Given the description of an element on the screen output the (x, y) to click on. 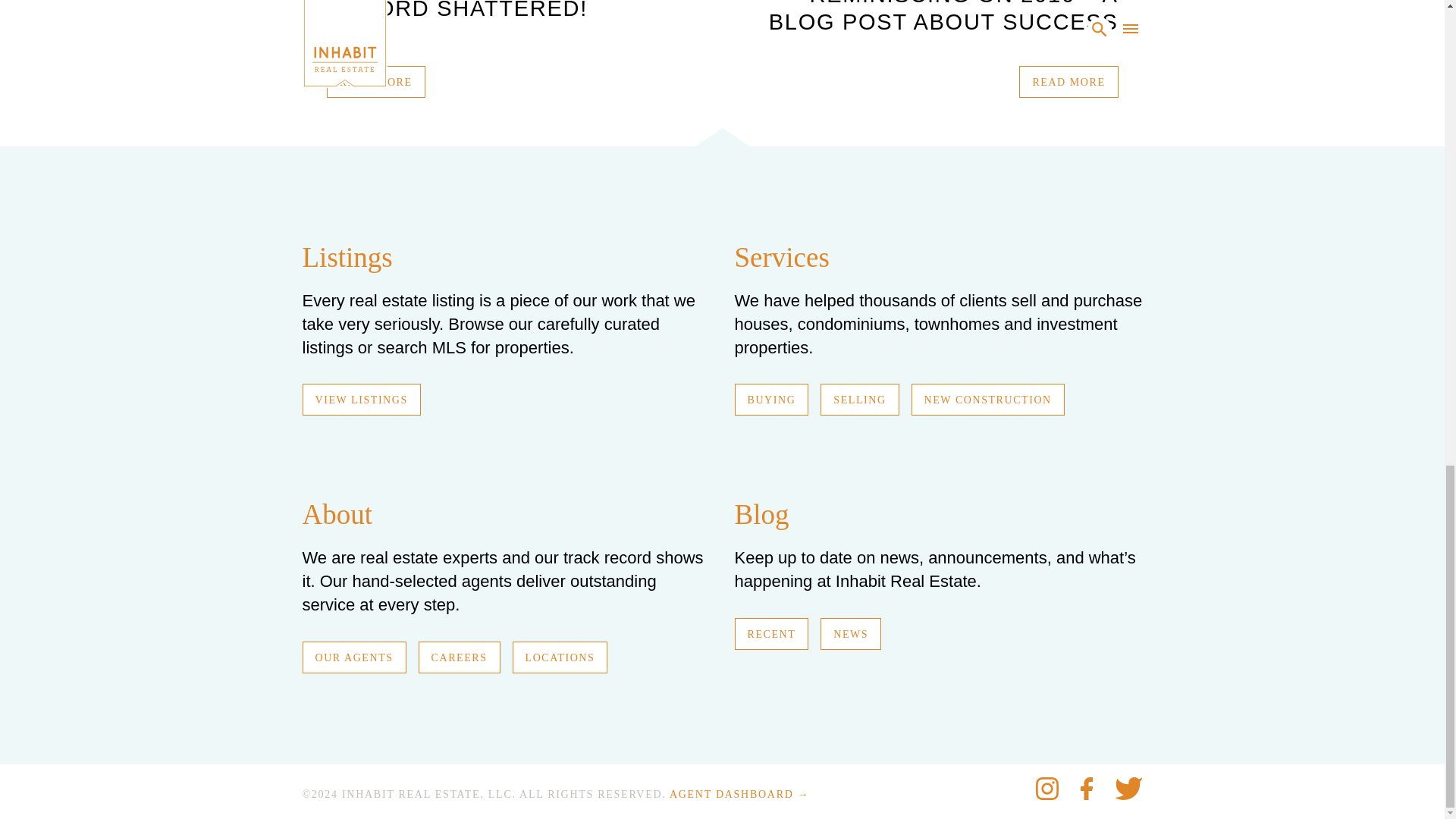
SELLING (859, 399)
Services (780, 256)
READ MORE (375, 81)
NEW CONSTRUCTION (987, 399)
OUR AGENTS (353, 657)
VIEW LISTINGS (360, 399)
READ MORE (1068, 81)
Listings (346, 256)
BUYING (770, 399)
About (336, 513)
